Given the description of an element on the screen output the (x, y) to click on. 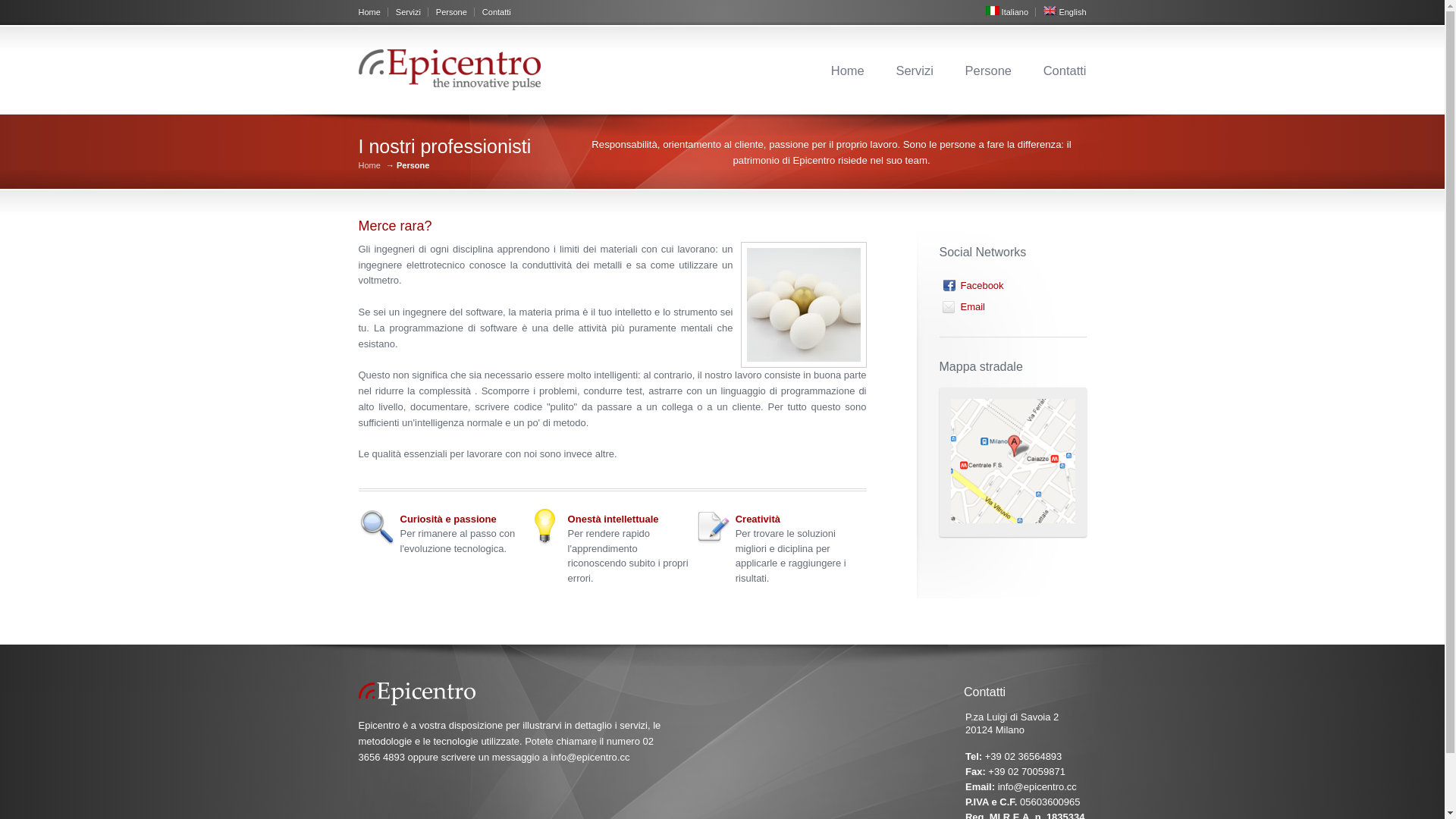
Servizi Element type: text (914, 70)
Persone Element type: text (988, 70)
info@epicentro.cc Element type: text (589, 756)
Servizi Element type: text (411, 11)
Persone Element type: text (455, 11)
Home Element type: text (372, 11)
Home Element type: text (847, 70)
English Element type: text (1064, 11)
Facebook Element type: text (972, 288)
info@epicentro.cc Element type: text (1036, 786)
Contatti Element type: text (1064, 70)
Contatti Element type: text (496, 11)
Home Element type: text (368, 165)
Email Element type: text (963, 310)
Italiano Element type: text (1010, 11)
